Given the description of an element on the screen output the (x, y) to click on. 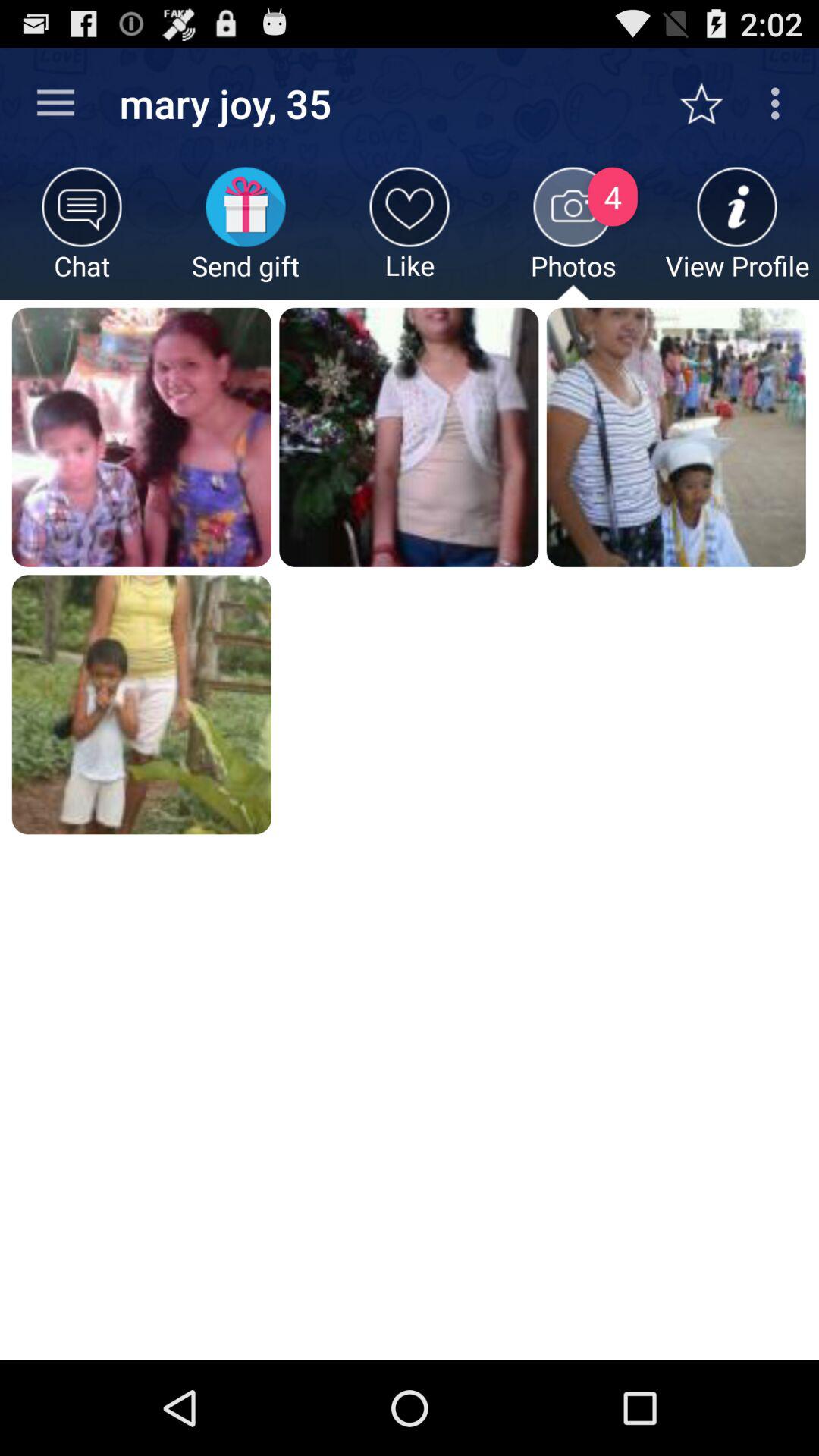
press the item above the view profile item (709, 103)
